Given the description of an element on the screen output the (x, y) to click on. 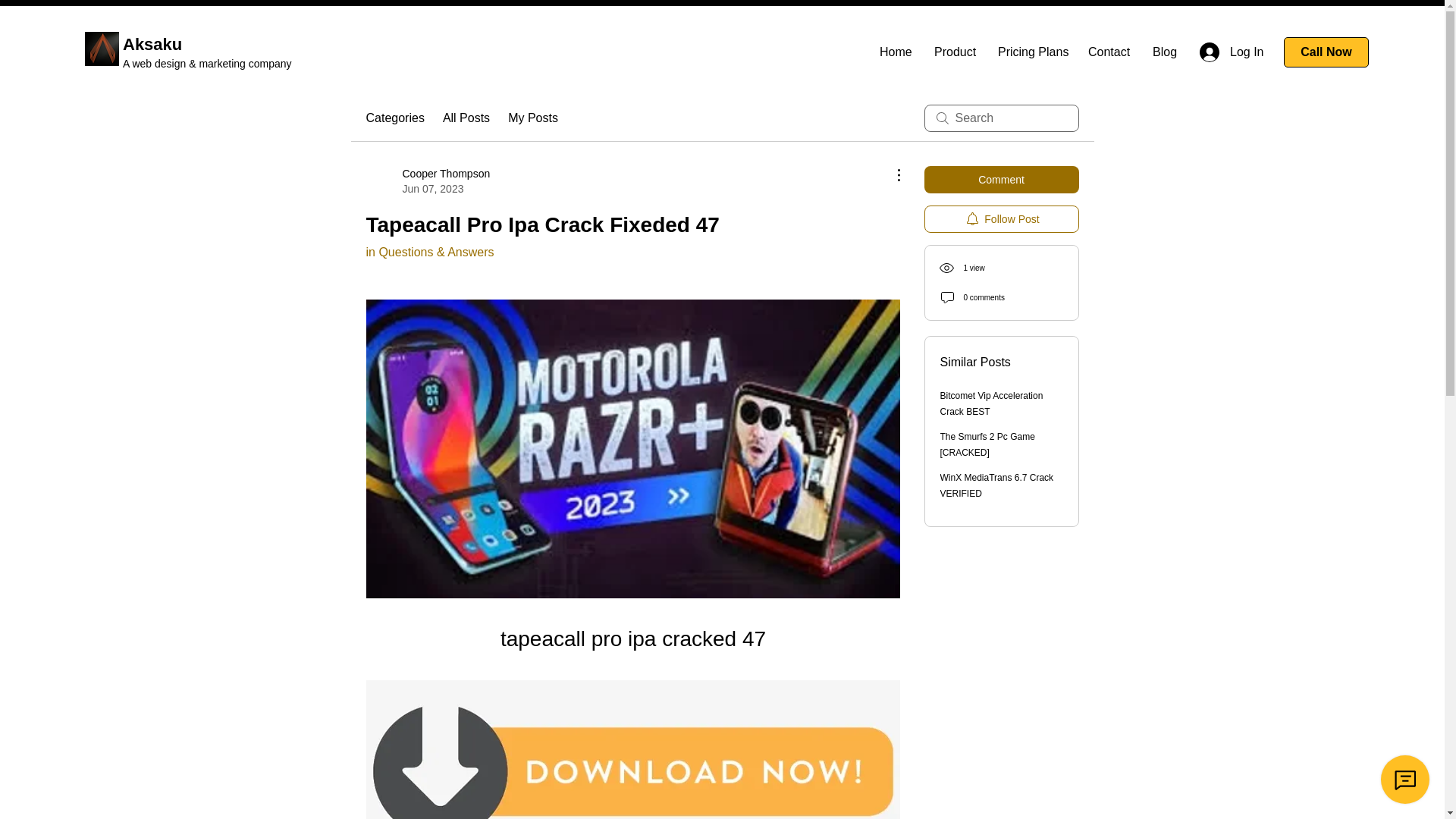
Categories (394, 117)
Contact (1109, 52)
aksaku logo.png (101, 48)
Bitcomet Vip Acceleration Crack BEST (991, 403)
Home (895, 52)
WinX MediaTrans 6.7 Crack VERIFIED (997, 485)
Pricing Plans (1032, 52)
Log In (1225, 51)
Call Now (1326, 51)
Product (955, 52)
